Given the description of an element on the screen output the (x, y) to click on. 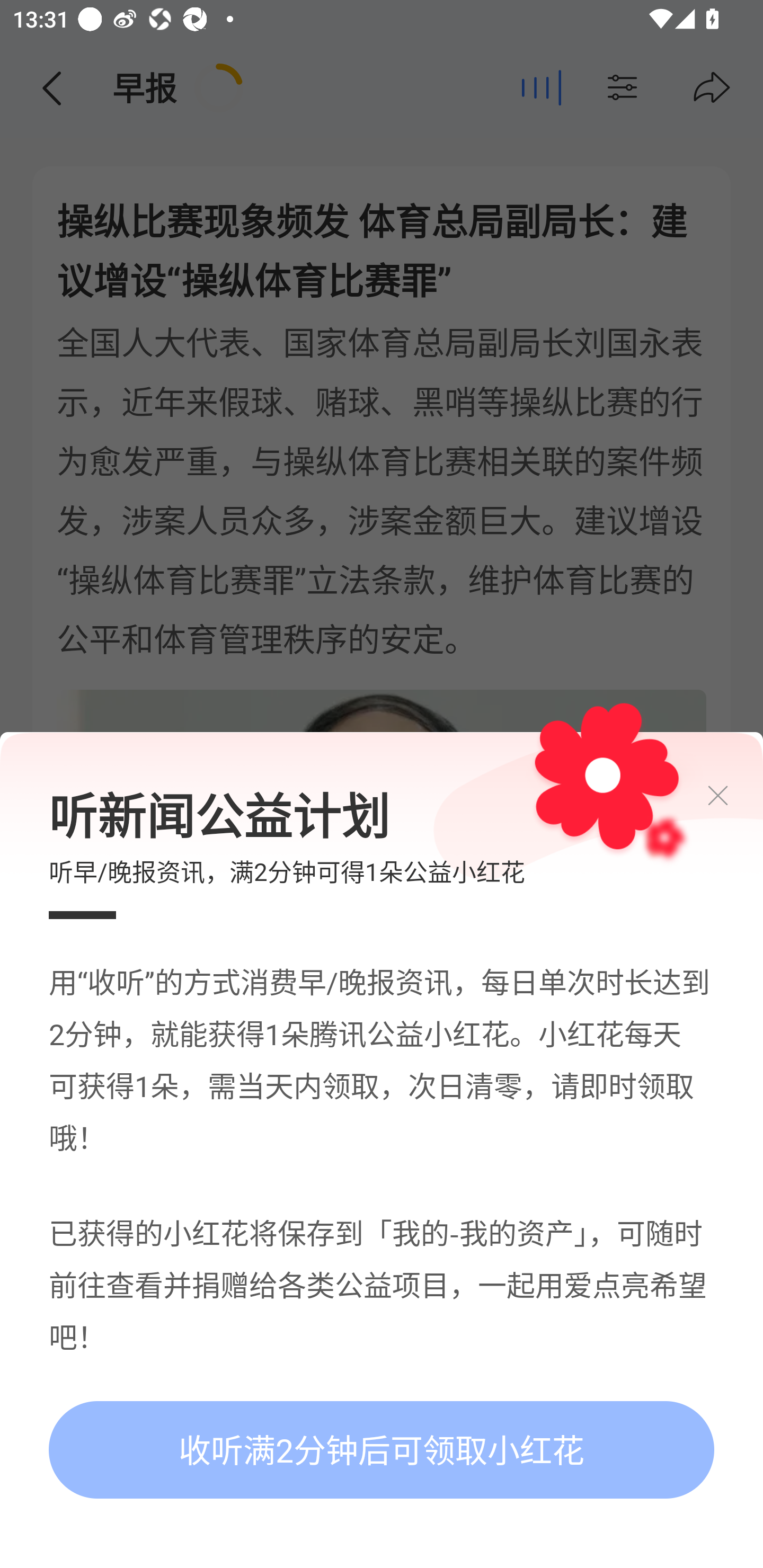
 (733, 795)
收听满2分钟后可领取小红花 (381, 1450)
